Given the description of an element on the screen output the (x, y) to click on. 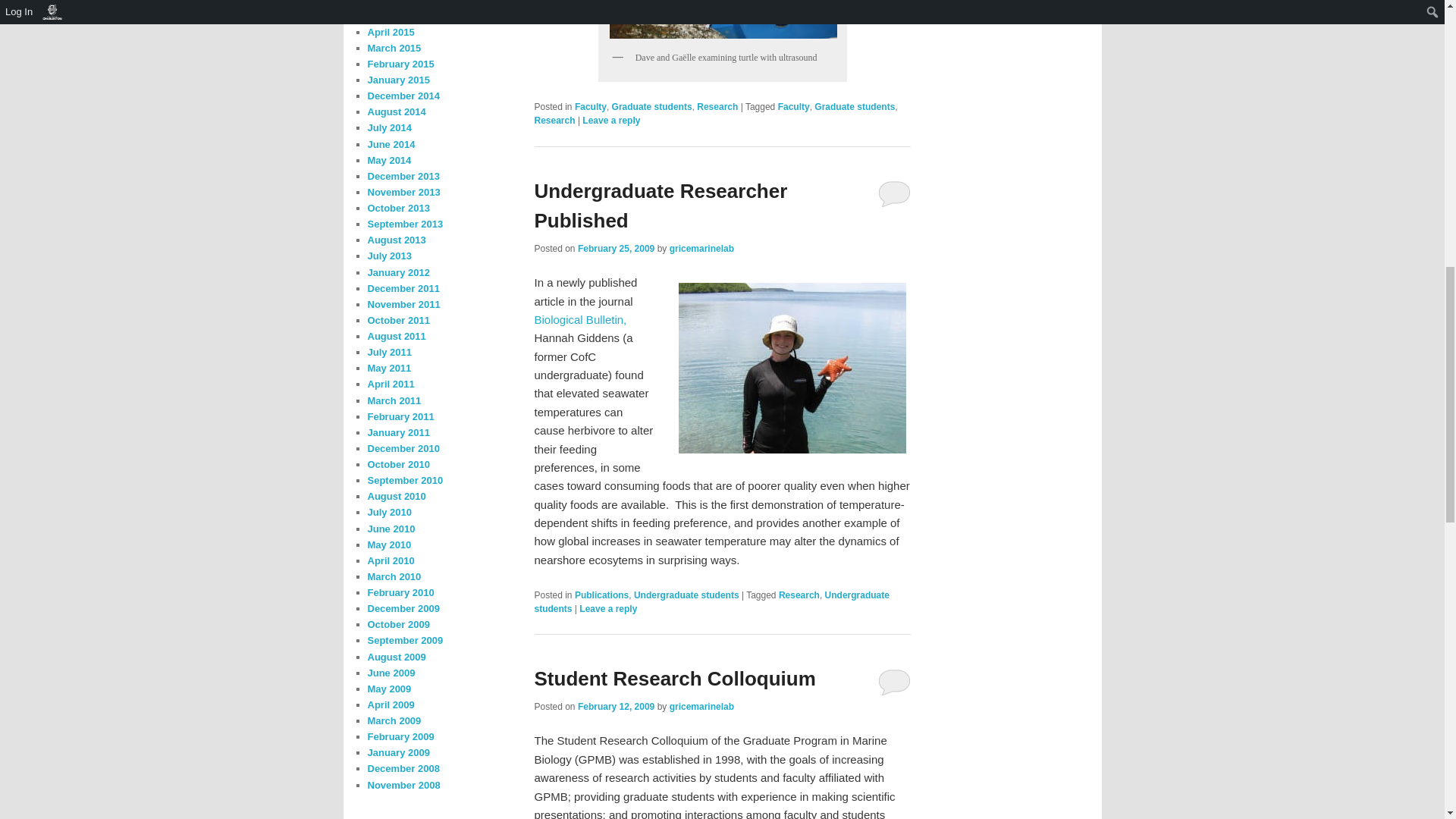
Research (554, 120)
6:50 pm (615, 706)
gricemarinelab (701, 248)
Biological Bulletin, (580, 318)
View all posts by gricemarinelab (701, 706)
Undergraduate students (686, 594)
Student Research Colloquium (674, 678)
February 12, 2009 (615, 706)
Publications (601, 594)
Undergraduate Researcher Published (660, 205)
